Given the description of an element on the screen output the (x, y) to click on. 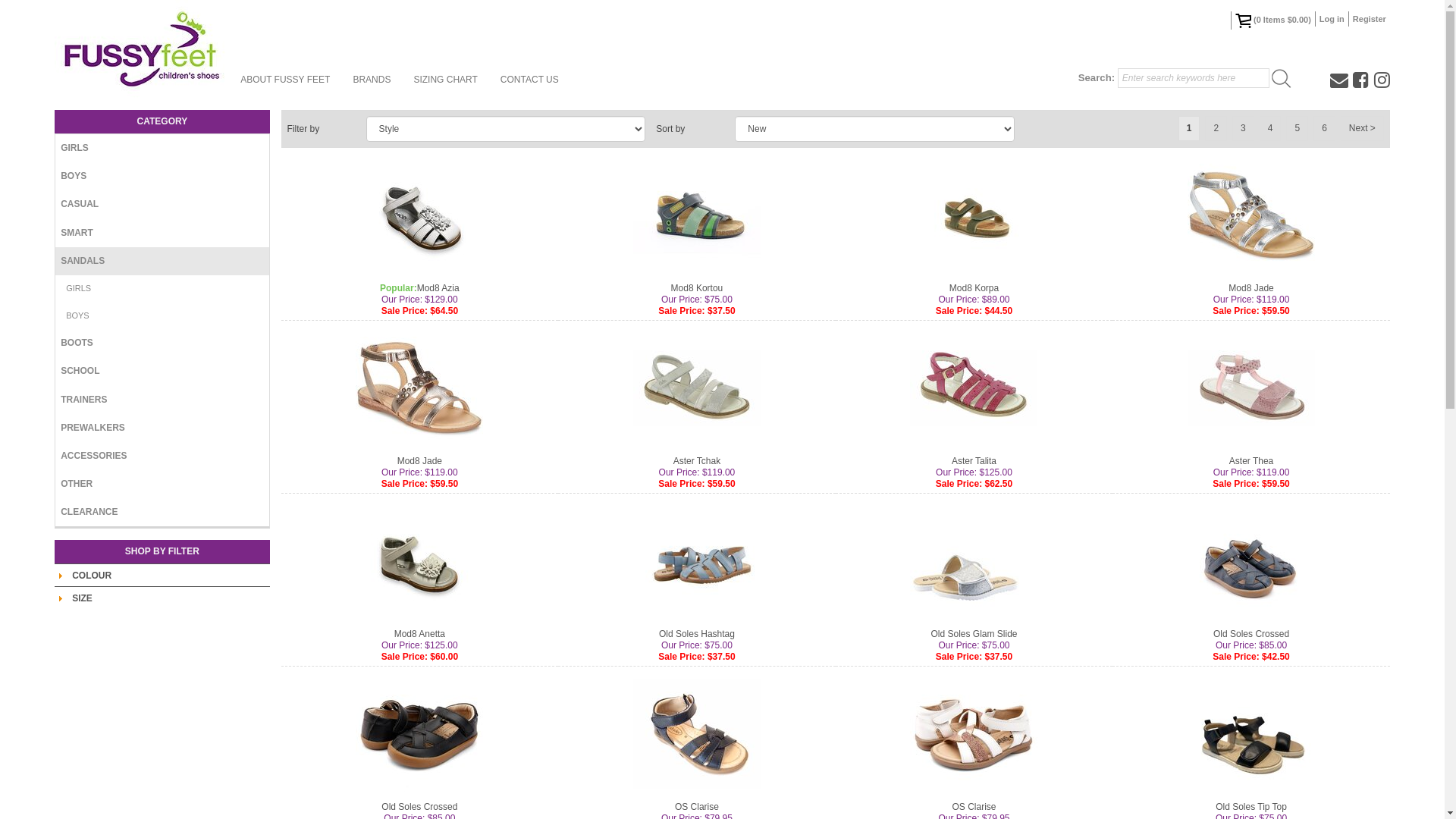
Old Soles Tip Top-sandals-Fussy Feet - Childrens Shoes Element type: hover (1251, 733)
Join our newsletter Element type: hover (1339, 79)
SMART Element type: text (161, 233)
Mod8 Jade Element type: hover (1251, 215)
Mod8 Jade Element type: text (419, 460)
OTHER Element type: text (161, 484)
OS Clarise-sandals-Fussy Feet - Childrens Shoes Element type: hover (696, 733)
Go Element type: hover (1281, 78)
ABOUT FUSSY FEET Element type: text (285, 79)
CASUAL Element type: text (161, 204)
Aster Thea-sandals-Fussy Feet - Childrens Shoes Element type: hover (1250, 388)
Mod8 Anetta-sandals-Fussy Feet - Childrens Shoes Element type: hover (419, 560)
GIRLS Element type: text (161, 288)
ACCESSORIES Element type: text (161, 456)
Old Soles Crossed-sandals-Fussy Feet - Childrens Shoes Element type: hover (419, 733)
Old Soles Hashtag-sandals-Fussy Feet - Childrens Shoes Element type: hover (696, 560)
Mod8 Korpa Element type: hover (974, 215)
Mod8 Korpa Element type: text (973, 287)
Aster Tchak Element type: hover (696, 387)
Aster Tchak Element type: text (696, 460)
SANDALS Element type: text (161, 261)
Log in Element type: text (1331, 18)
OS Clarise Element type: text (973, 806)
Aster Thea Element type: text (1251, 460)
Register Element type: text (1369, 18)
OS Clarise-sandals-Fussy Feet - Childrens Shoes Element type: hover (973, 733)
Next > Element type: text (1361, 128)
Aster Tchak-sandals-Fussy Feet - Childrens Shoes Element type: hover (696, 388)
COLOUR Element type: text (91, 575)
Like us on Facebook Element type: hover (1360, 79)
Aster Talita Element type: text (973, 460)
6 Element type: text (1324, 128)
Mod8 Azia Element type: text (438, 287)
Mod8 Anetta Element type: text (419, 633)
Old Soles Glam Slide Element type: text (973, 633)
Mod8 Jade Element type: text (1250, 287)
Old Soles Crossed Element type: text (419, 806)
Mod8 Anetta Element type: hover (419, 560)
OS Clarise Element type: hover (974, 733)
2 Element type: text (1215, 128)
BOYS Element type: text (161, 176)
3 Element type: text (1243, 128)
Old Soles Glam Slide-sandals-Fussy Feet - Childrens Shoes Element type: hover (973, 560)
SIZING CHART Element type: text (444, 79)
5 Element type: text (1297, 128)
(0 Items $0.00) Element type: text (1272, 20)
Mod8 Azia-sandals-Fussy Feet - Childrens Shoes Element type: hover (419, 215)
Mod8 Jade-sandals-Fussy Feet - Childrens Shoes Element type: hover (419, 387)
Old Soles Glam Slide Element type: hover (974, 560)
OS Clarise Element type: text (696, 806)
Aster Talita-sandals-Fussy Feet - Childrens Shoes Element type: hover (973, 388)
 Follow us on Instagram Element type: hover (1382, 79)
Old Soles Crossed Element type: text (1251, 633)
Mod8 Azia Element type: hover (419, 215)
BOOTS Element type: text (161, 343)
Old Soles Crossed Element type: hover (1251, 560)
BRANDS Element type: text (371, 79)
Old Soles Tip Top Element type: hover (1251, 733)
Aster Thea Element type: hover (1251, 387)
Mod8 Kortou Element type: text (697, 287)
Mod8 Korpa-sandals-Fussy Feet - Childrens Shoes Element type: hover (973, 215)
Old Soles Crossed-sandals-Fussy Feet - Childrens Shoes Element type: hover (1250, 560)
PREWALKERS Element type: text (161, 428)
SCHOOL Element type: text (161, 371)
BOYS Element type: text (161, 315)
Old Soles Hashtag Element type: hover (696, 560)
Mod8 Kortou-sandals-Fussy Feet - Childrens Shoes Element type: hover (696, 215)
Fussy Feet - Childrens Shoes Element type: hover (141, 49)
OS Clarise Element type: hover (696, 733)
SIZE Element type: text (81, 597)
4 Element type: text (1270, 128)
CLEARANCE Element type: text (161, 512)
Old Soles Tip Top Element type: text (1250, 806)
Old Soles Crossed Element type: hover (419, 733)
GIRLS Element type: text (161, 148)
CONTACT US Element type: text (529, 79)
Mod8 Kortou Element type: hover (696, 215)
TRAINERS Element type: text (161, 399)
Mod8 Jade-sandals-Fussy Feet - Childrens Shoes Element type: hover (1250, 215)
Aster Talita Element type: hover (974, 387)
Mod8 Jade Element type: hover (419, 387)
Old Soles Hashtag Element type: text (696, 633)
